Given the description of an element on the screen output the (x, y) to click on. 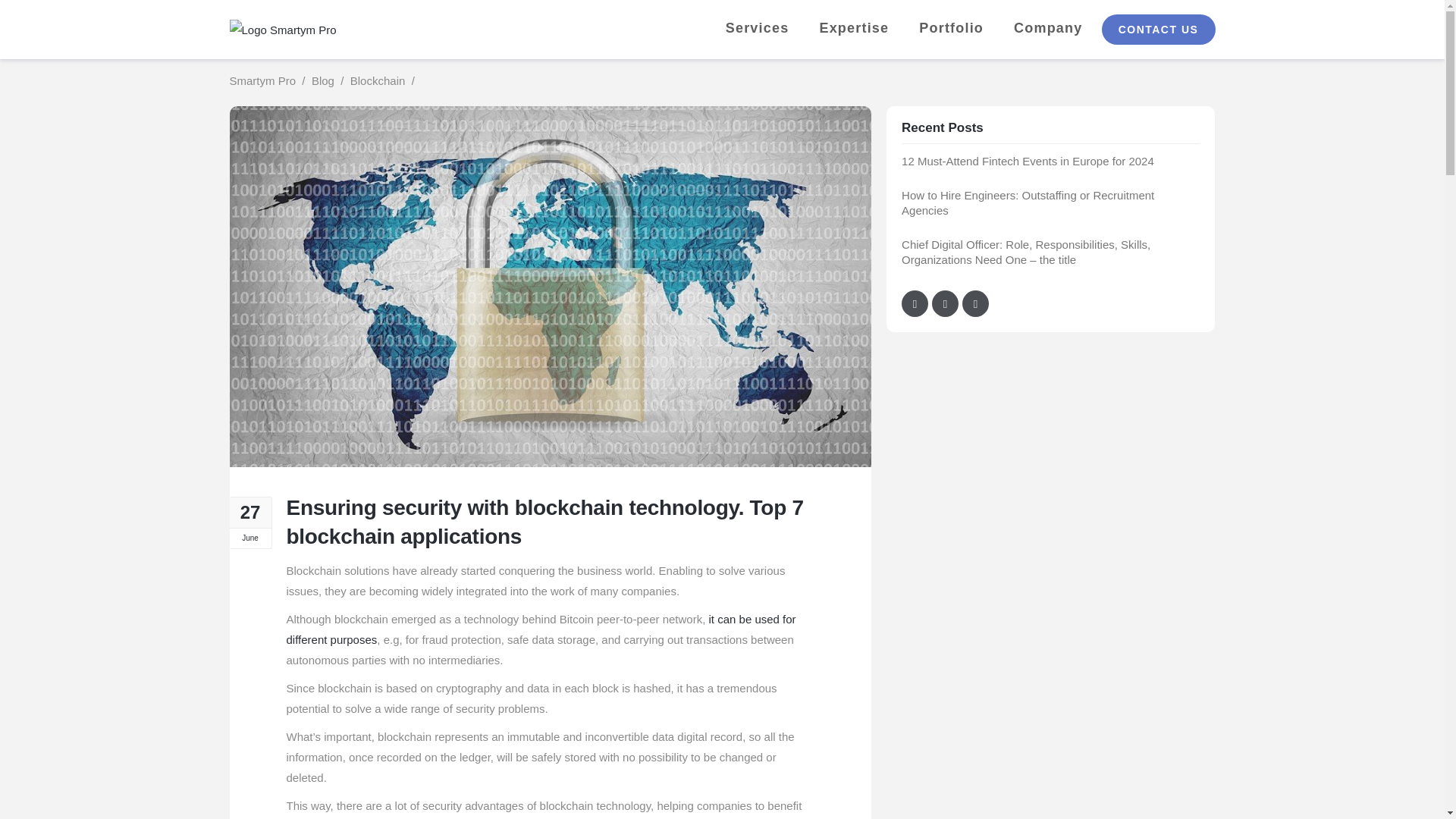
post-img (549, 297)
Portfolio (951, 28)
Blockchain (378, 80)
Expertise (853, 27)
Smartym Pro (261, 80)
Blog (322, 80)
it can be used for different purposes (541, 629)
Services (757, 27)
CONTACT US (1157, 29)
Company (1047, 27)
